Given the description of an element on the screen output the (x, y) to click on. 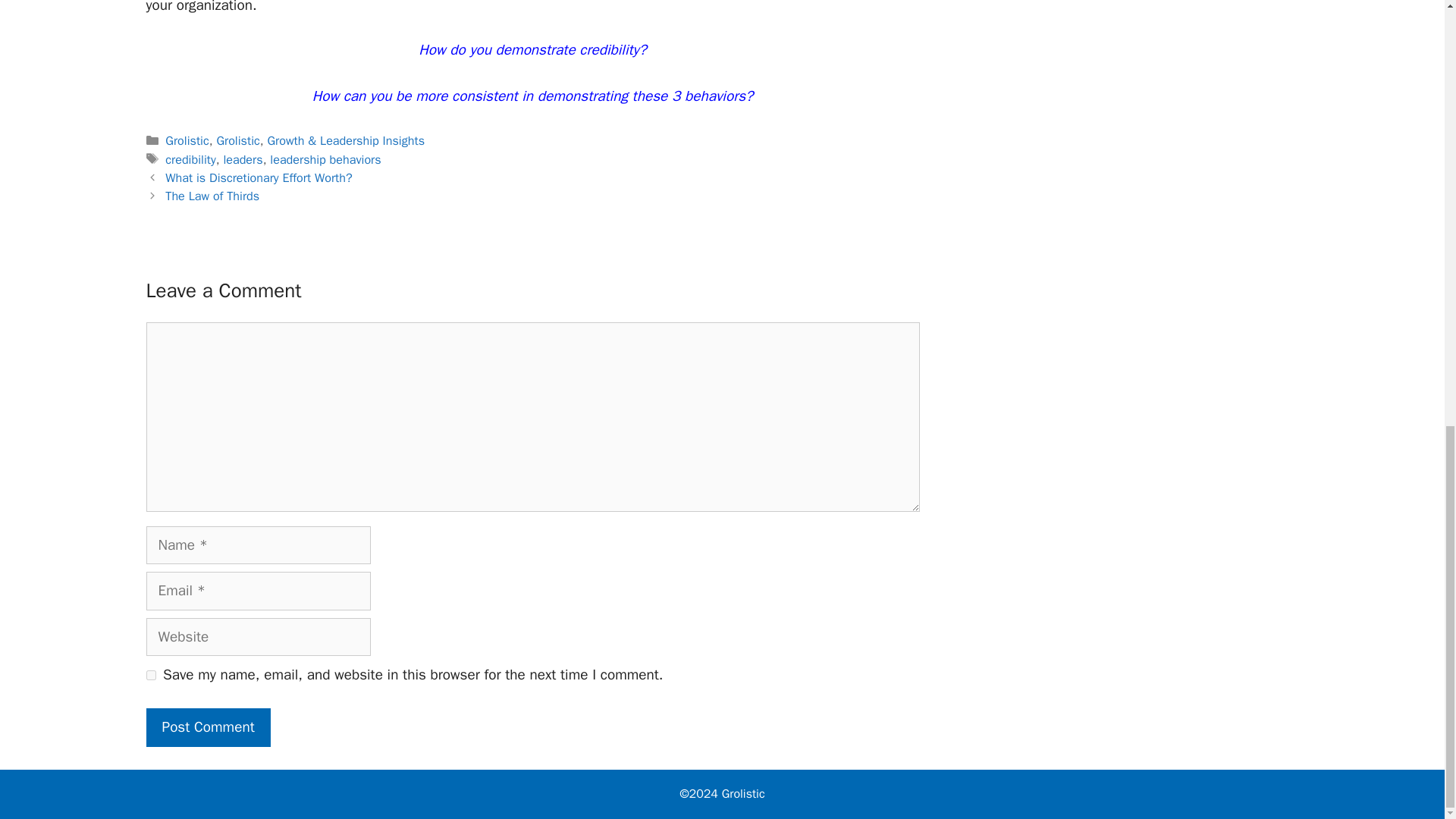
Grolistic (237, 140)
leadership behaviors (324, 158)
leaders (242, 158)
The Law of Thirds (212, 195)
yes (150, 675)
Post Comment (207, 727)
Post Comment (207, 727)
Grolistic (186, 140)
What is Discretionary Effort Worth? (258, 177)
credibility (190, 158)
